Given the description of an element on the screen output the (x, y) to click on. 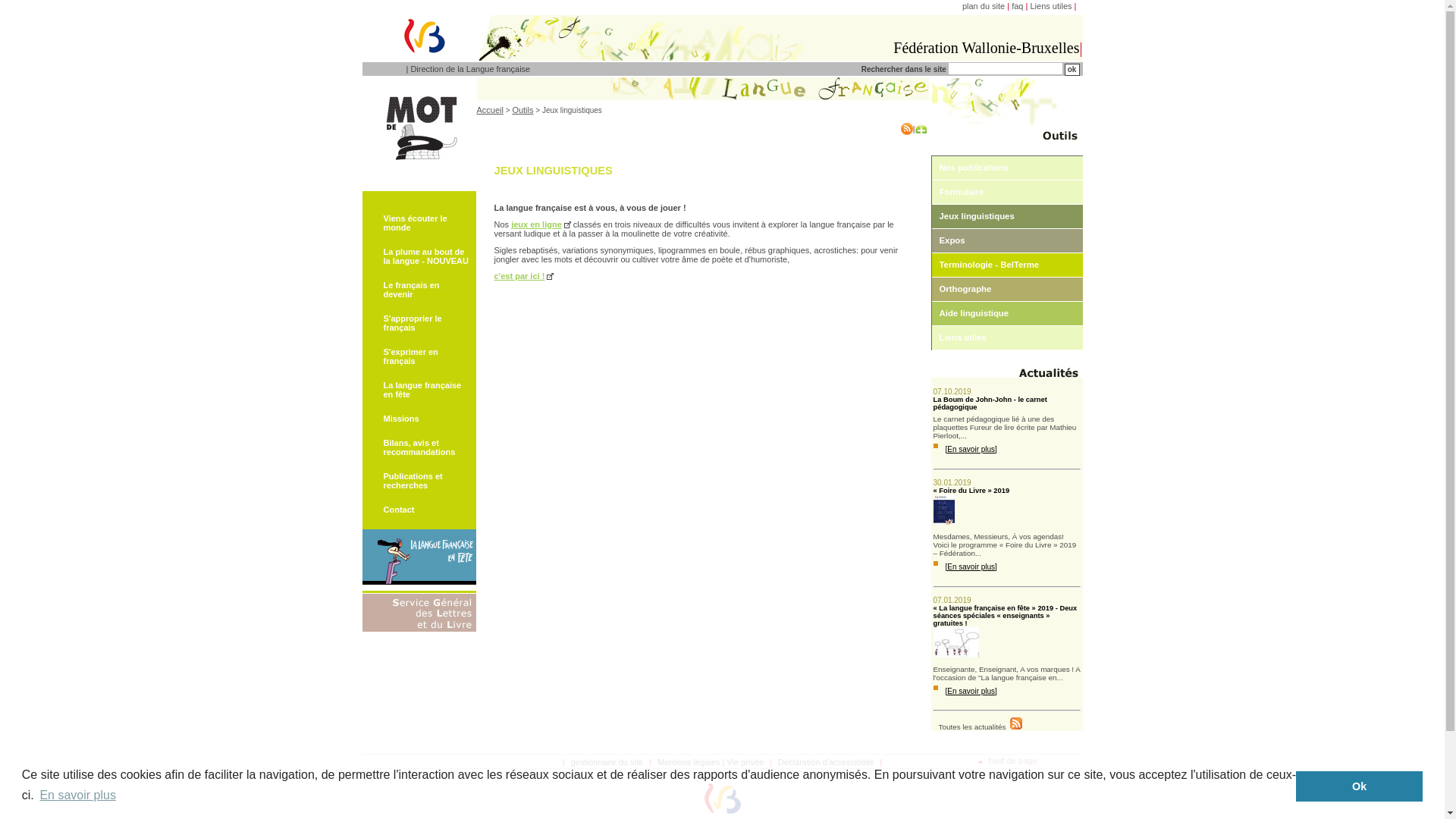
Outils Element type: text (522, 109)
Publications et recherches Element type: text (419, 480)
Ok Element type: text (1358, 786)
Accueil Element type: text (489, 109)
[En savoir plus] Element type: text (969, 691)
ok Element type: text (1071, 69)
fils RSS Element type: hover (1016, 723)
Aide linguistique Element type: text (1006, 312)
Jeux linguistiques Element type: text (1006, 215)
rechercher Element type: hover (1071, 69)
Orthographe Element type: text (1006, 288)
En savoir plus Element type: text (77, 795)
Nos publications Element type: text (1006, 167)
Missions Element type: text (419, 418)
jeux en ligne Element type: text (541, 224)
c'est par ici ! Element type: text (524, 275)
Expos Element type: text (1006, 240)
plan du site Element type: text (983, 5)
gestionnaire du site Element type: text (607, 761)
  Element type: text (1014, 726)
haut de page Element type: text (1006, 760)
[En savoir plus] Element type: text (969, 566)
faq Element type: text (1016, 5)
Formulaire Element type: text (1006, 191)
[En savoir plus] Element type: text (969, 449)
Contact Element type: text (419, 509)
Terminologie - BelTerme Element type: text (1006, 264)
Liens utiles Element type: text (1006, 337)
La plume au bout de la langue - NOUVEAU Element type: text (419, 256)
Lesmotsde.jpg Element type: hover (419, 134)
Liens utiles Element type: text (1050, 5)
Plus de choix Element type: hover (919, 128)
Bilans, avis et recommandations Element type: text (419, 447)
